Given the description of an element on the screen output the (x, y) to click on. 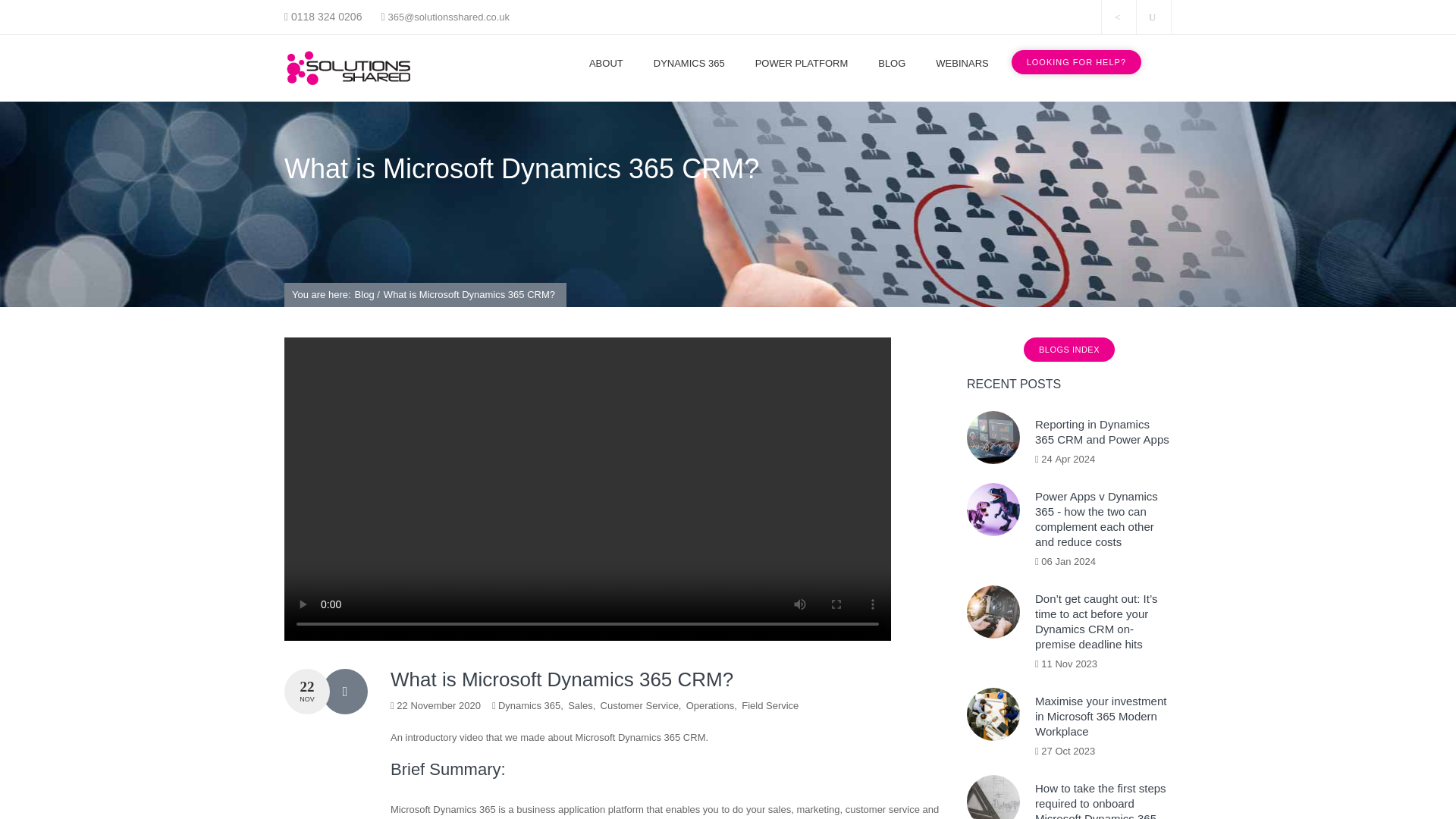
DYNAMICS 365 (689, 63)
Solutions Shared Ltd logo (348, 67)
Blog (366, 294)
WEBINARS (961, 63)
. (1153, 17)
Our YouTube channel (1153, 17)
Your browser does not support the video tag. (587, 636)
